Given the description of an element on the screen output the (x, y) to click on. 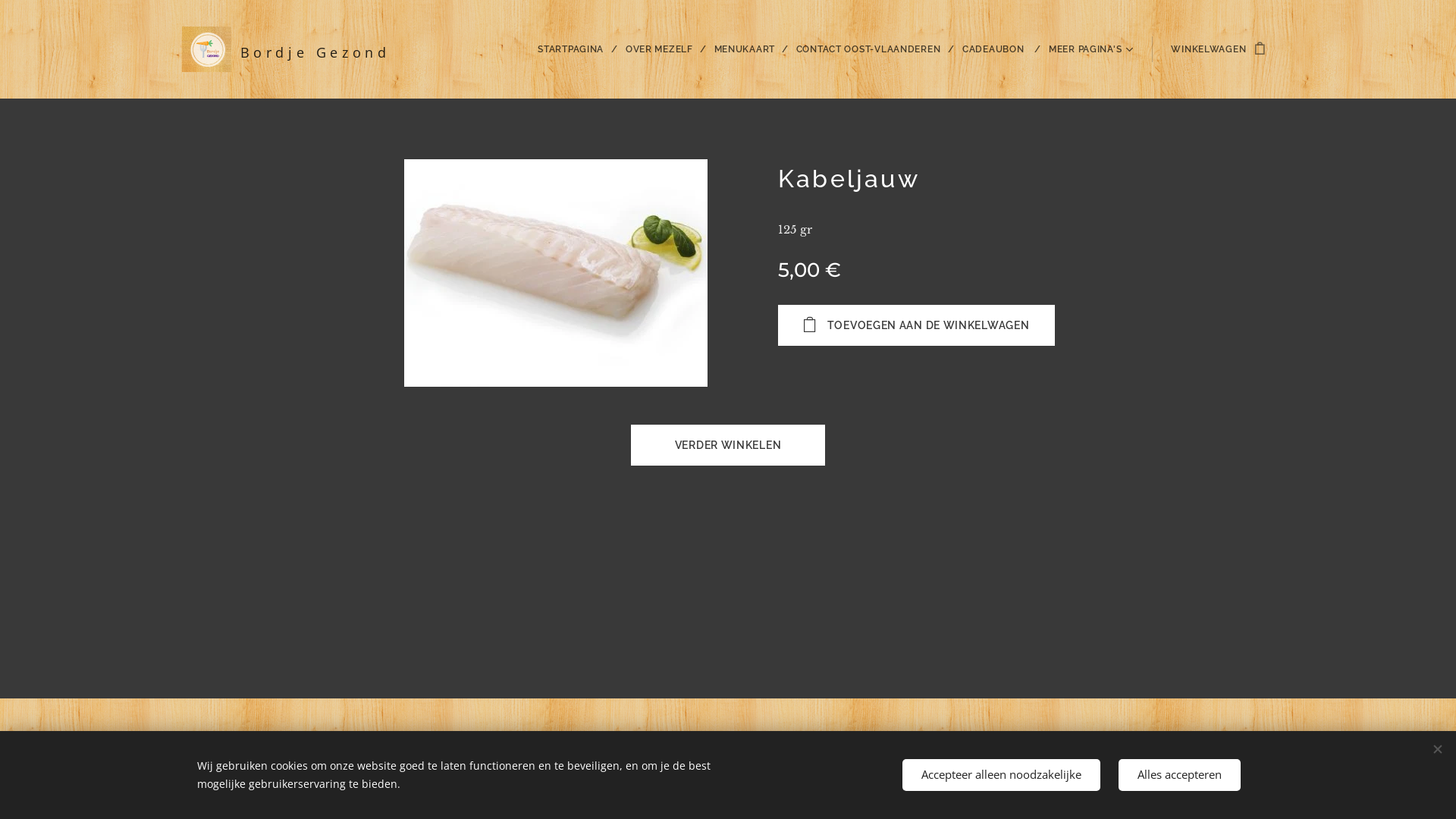
STARTPAGINA Element type: text (575, 49)
Cookies Element type: text (916, 768)
info@bordjegezond.be Element type: text (923, 749)
Alles accepteren Element type: text (1179, 774)
WINKELWAGEN Element type: text (1212, 49)
Accepteer alleen noodzakelijke Element type: text (1001, 774)
CADEAUBON Element type: text (997, 49)
MENUKAART Element type: text (747, 49)
TOEVOEGEN AAN DE WINKELWAGEN Element type: text (916, 324)
VERDER WINKELEN Element type: text (727, 444)
MEER PAGINA'S Element type: text (1086, 49)
CONTACT OOST-VLAANDEREN Element type: text (871, 49)
OVER MEZELF Element type: text (662, 49)
Bordje Gezond  Element type: text (292, 49)
